Given the description of an element on the screen output the (x, y) to click on. 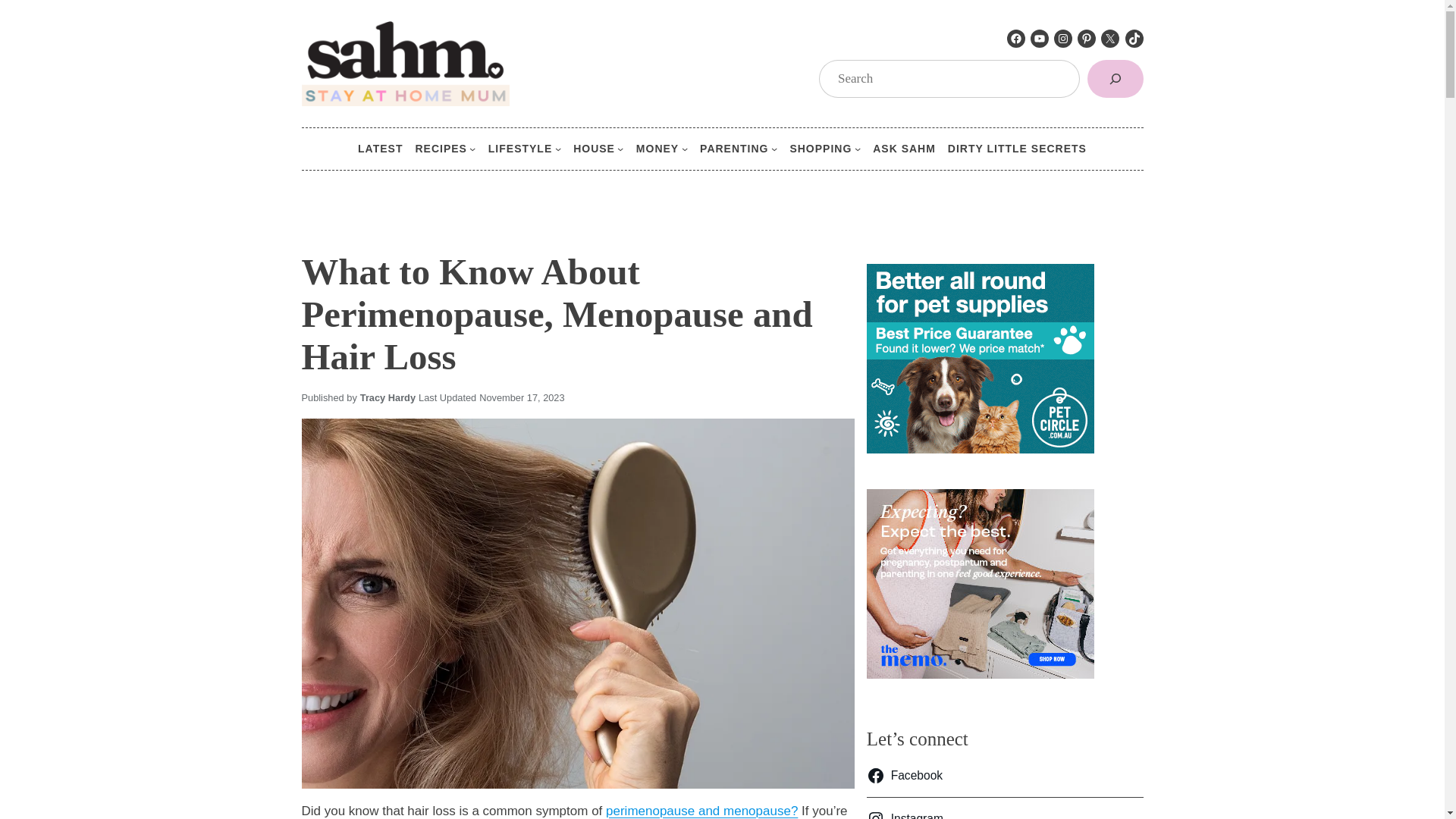
TikTok (1133, 38)
HOUSE (593, 148)
LATEST (380, 148)
Pinterest (1086, 38)
Facebook (1016, 38)
MONEY (657, 148)
LIFESTYLE (519, 148)
X (1109, 38)
RECIPES (439, 148)
Instagram (1062, 38)
YouTube (1039, 38)
